Given the description of an element on the screen output the (x, y) to click on. 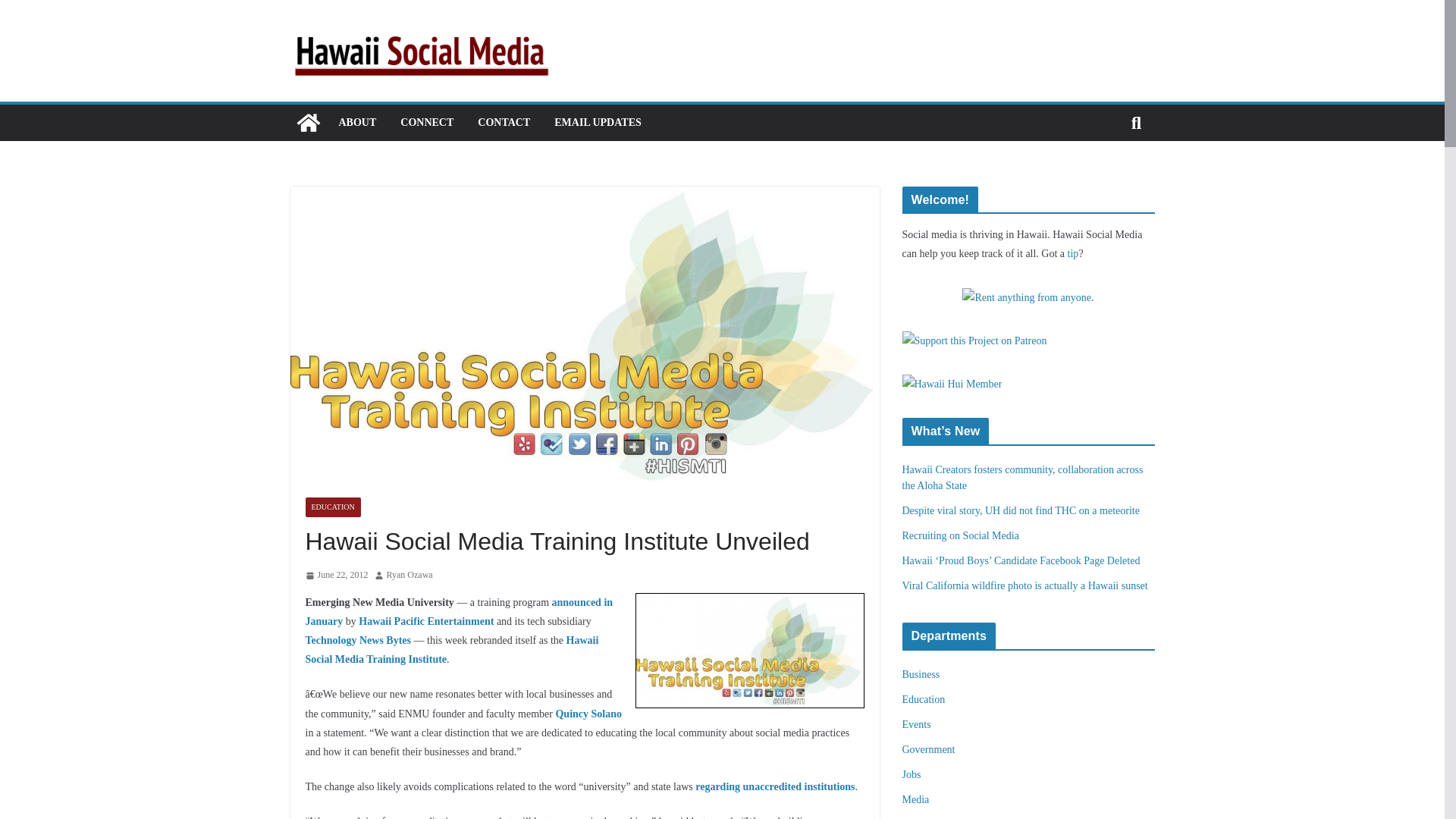
Hawaii Pacific Entertainment (425, 621)
Ryan Ozawa (409, 575)
tip (1072, 253)
announced in January (458, 612)
Ryan Ozawa (409, 575)
EDUCATION (331, 506)
Viral California wildfire photo is actually a Hawaii sunset (1025, 585)
regarding unaccredited institutions (774, 786)
Hawaii Social Media Training Institute (451, 649)
CONNECT (426, 122)
